Given the description of an element on the screen output the (x, y) to click on. 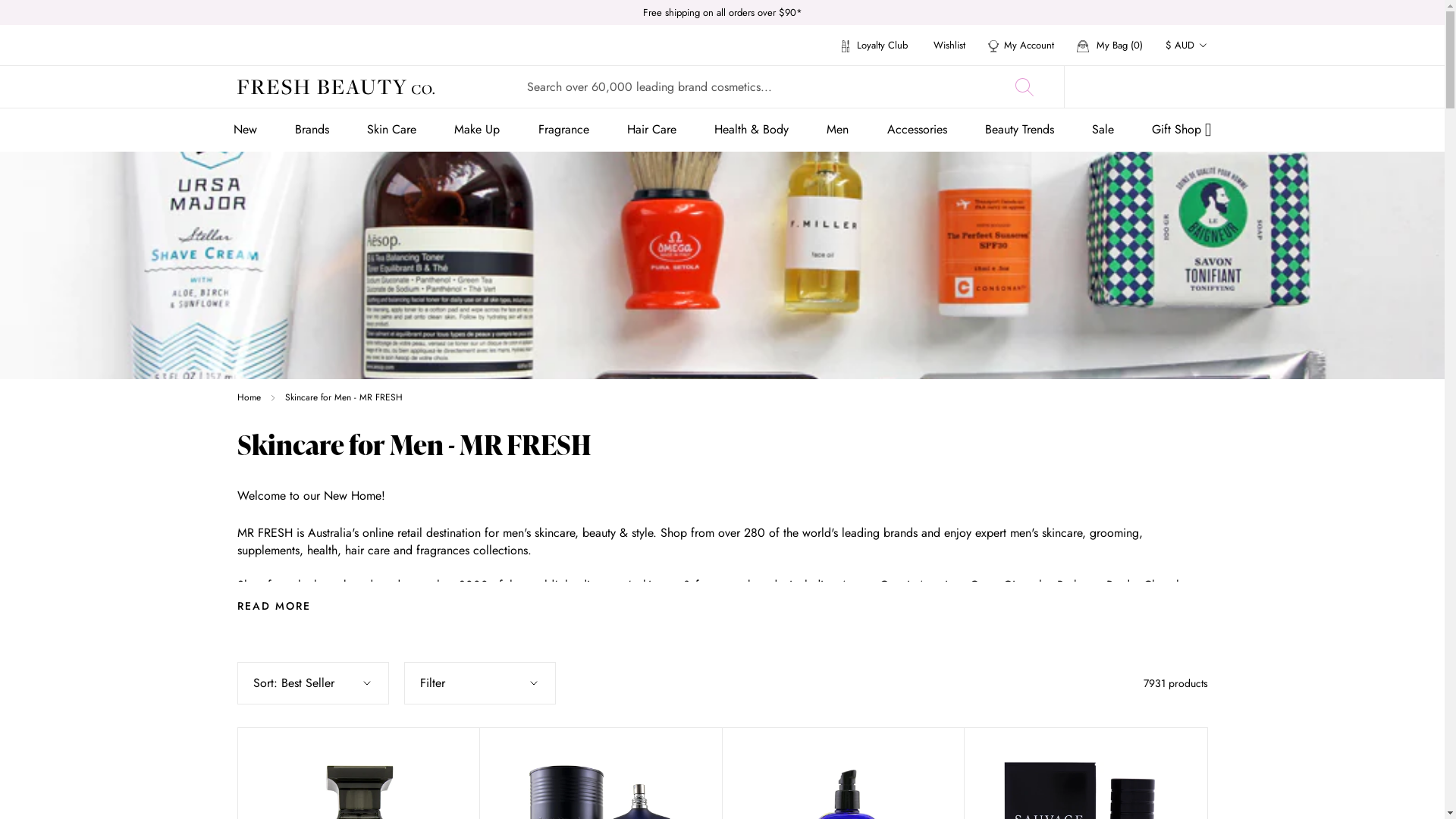
Sale
Sale Element type: text (1102, 129)
Brands
Brands Element type: text (311, 129)
READ MORE Element type: text (273, 605)
Men
Men Element type: text (837, 129)
Free shipping on all orders over $90* Element type: text (722, 12)
Sort: Best Seller Element type: text (312, 683)
Loyalty Club Element type: text (874, 44)
Make Up
Make Up Element type: text (476, 129)
GBP Element type: text (1203, 113)
Beauty Trends
Beauty Trends Element type: text (1019, 129)
$ AUD Element type: text (1185, 44)
My Account Element type: text (1021, 44)
Fragrance
Fragrance Element type: text (563, 129)
USD Element type: text (1203, 174)
Wishlist Element type: text (949, 44)
Home Element type: text (248, 397)
New
New Element type: text (245, 129)
Health & Body
Health & Body Element type: text (751, 129)
Skin Care
Skin Care Element type: text (391, 129)
AUD Element type: text (1203, 83)
NZD Element type: text (1203, 143)
Hair Care
Hair Care Element type: text (651, 129)
Filter Element type: text (479, 683)
Accessories
Accessories Element type: text (917, 129)
My Bag (0) Element type: text (1109, 44)
